Given the description of an element on the screen output the (x, y) to click on. 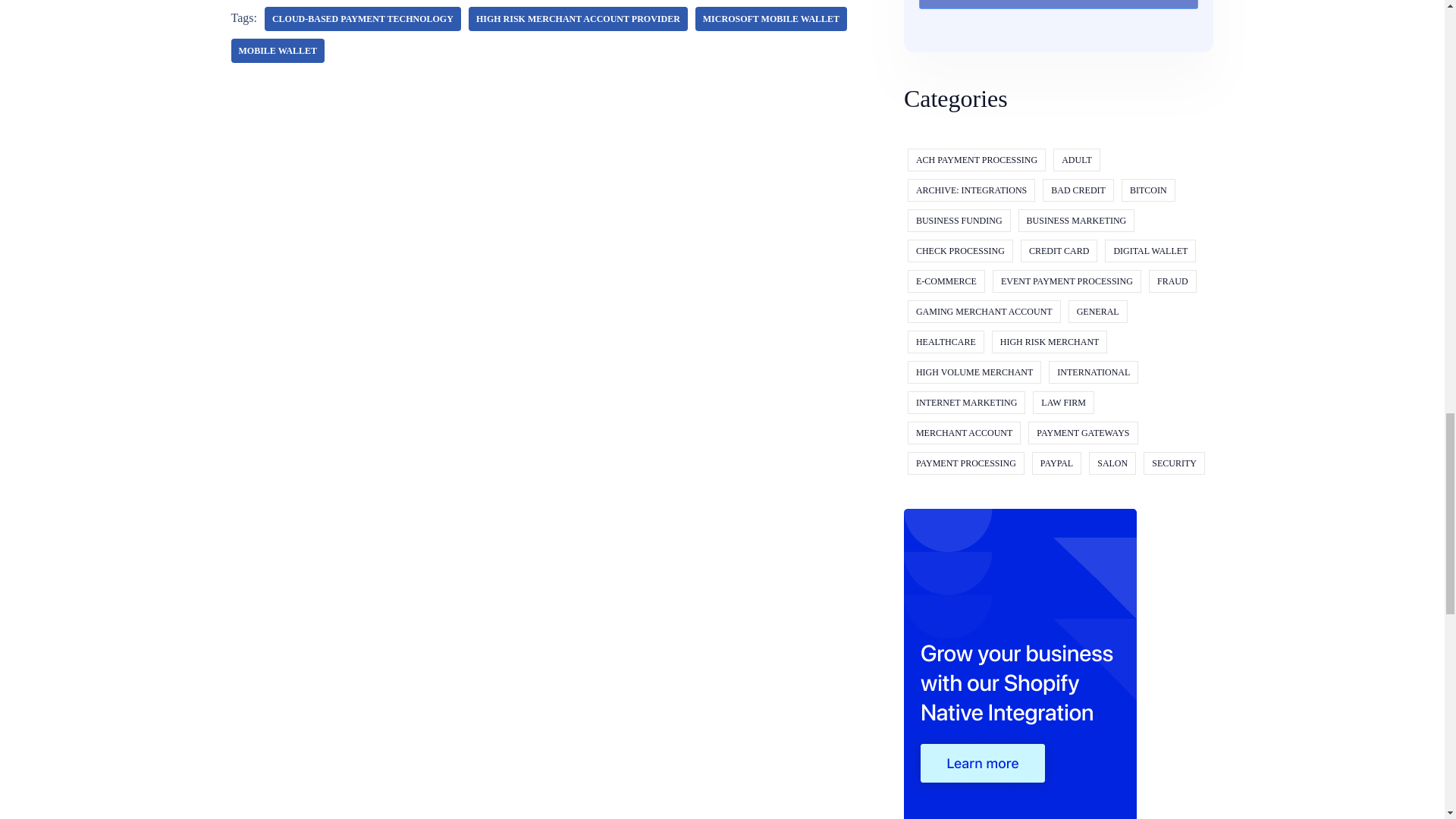
Mobile Wallet (276, 50)
Cloud-Based Payment Technology (362, 18)
high risk merchant account provider (577, 18)
Microsoft Mobile Wallet (771, 18)
